Given the description of an element on the screen output the (x, y) to click on. 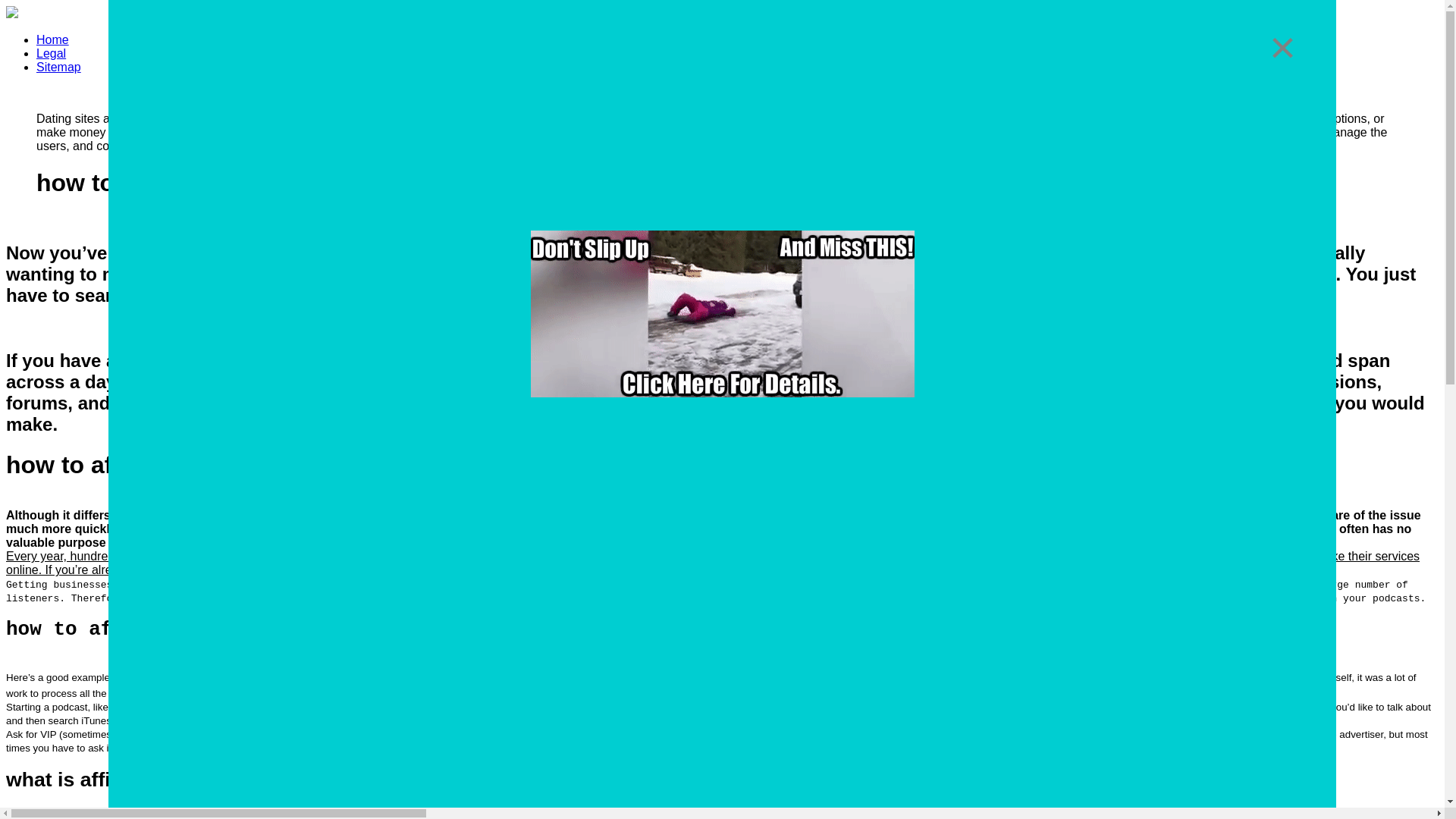
Home (52, 39)
Legal (50, 52)
Sitemap (58, 66)
